Given the description of an element on the screen output the (x, y) to click on. 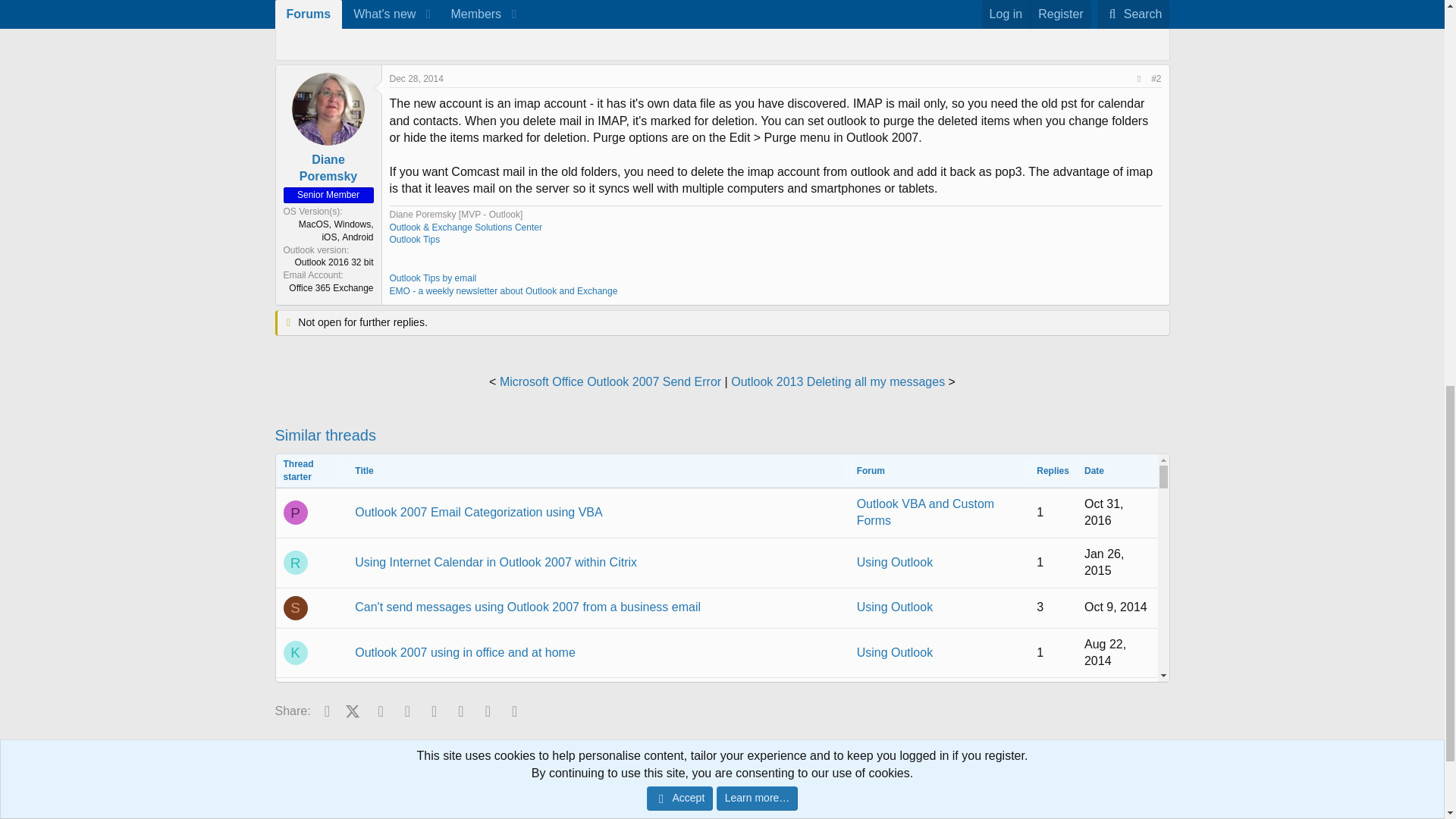
Aug 28, 2013 at 11:22 PM (1104, 818)
Aug 22, 2014 at 8:10 AM (1104, 652)
Oct 31, 2016 at 12:19 AM (1104, 512)
Dec 7, 2013 at 4:21 PM (1117, 787)
Jan 6, 2014 at 11:31 AM (1116, 747)
Oct 9, 2014 at 6:26 PM (1115, 606)
Dec 28, 2014 at 12:04 AM (417, 78)
Jan 26, 2015 at 3:46 PM (1104, 562)
Diane Poremsky (328, 167)
Dec 28, 2014 (417, 78)
Advertisement (766, 24)
Apr 17, 2014 at 8:36 AM (1104, 701)
